Given the description of an element on the screen output the (x, y) to click on. 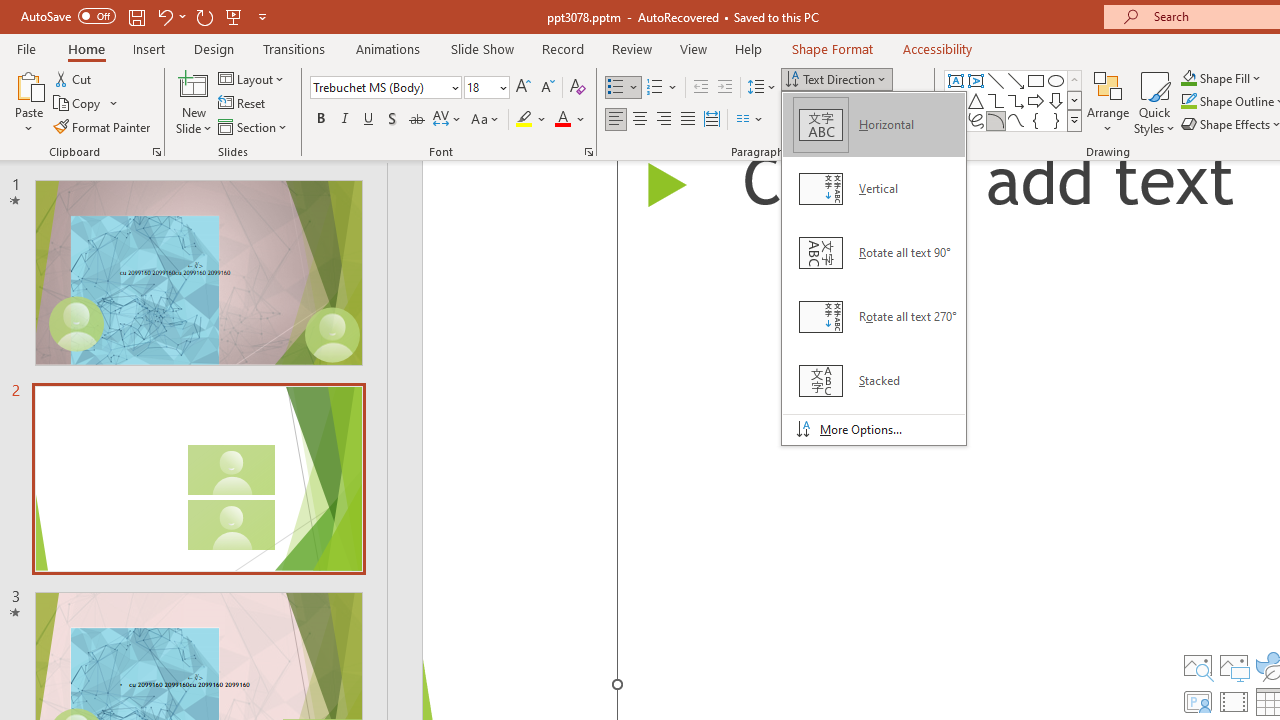
Shape Outline Green, Accent 1 (1188, 101)
Insert Video (1234, 701)
